Given the description of an element on the screen output the (x, y) to click on. 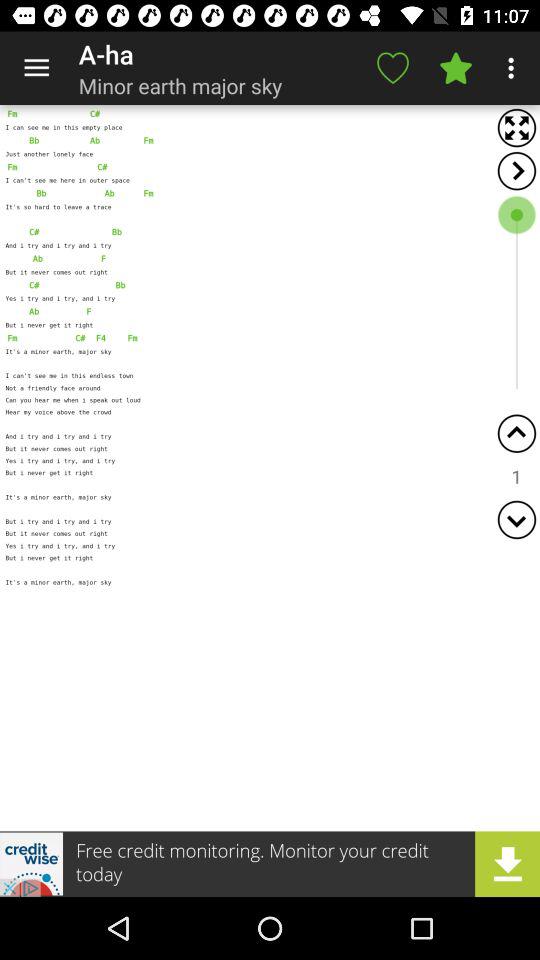
scroll up (516, 433)
